Given the description of an element on the screen output the (x, y) to click on. 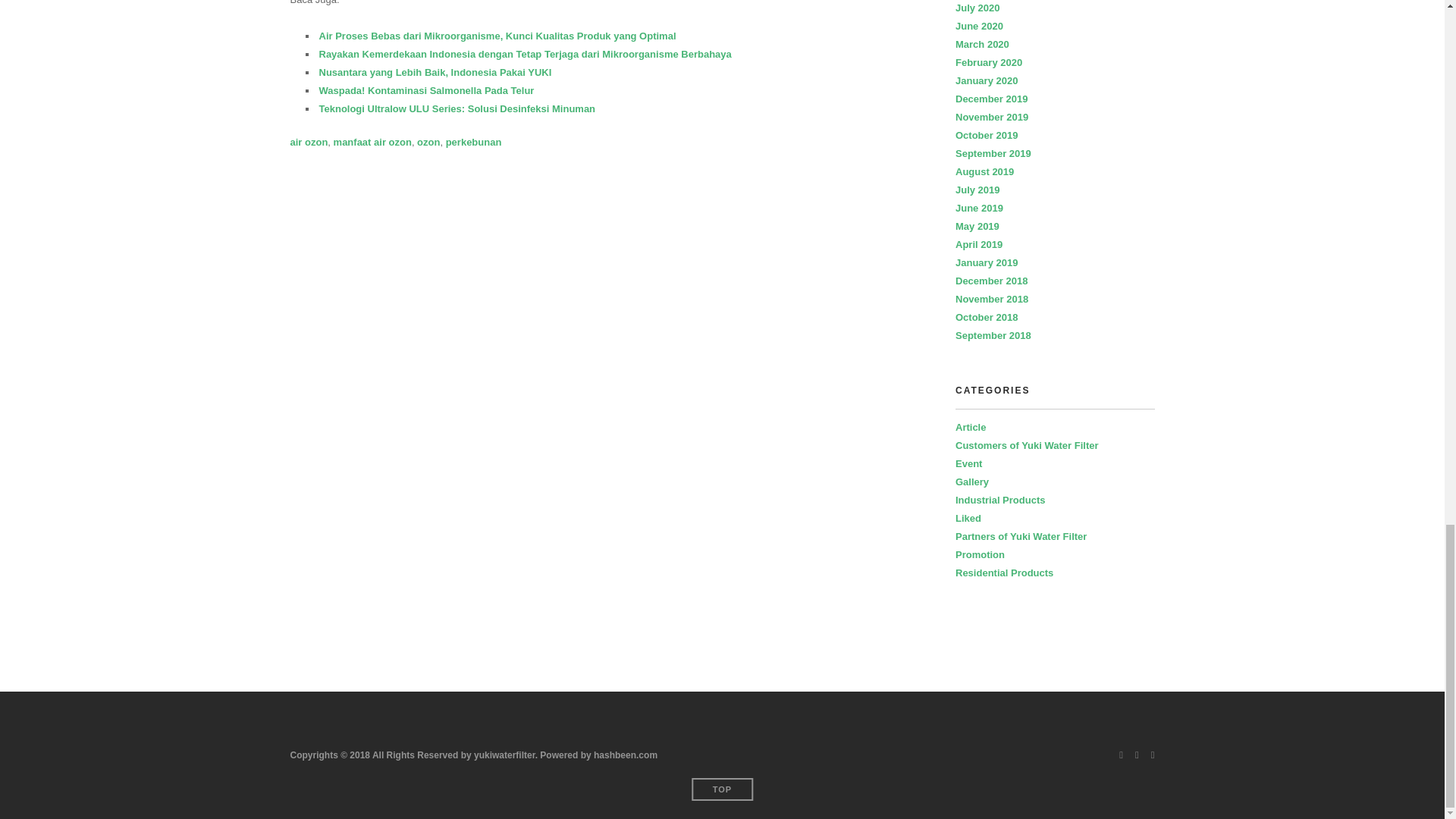
air ozon (308, 142)
Nusantara yang Lebih Baik, Indonesia Pakai YUKI (434, 71)
perkebunan (473, 142)
ozon (427, 142)
Waspada! Kontaminasi Salmonella Pada Telur (426, 90)
manfaat air ozon (372, 142)
Teknologi Ultralow ULU Series: Solusi Desinfeksi Minuman (456, 108)
